Given the description of an element on the screen output the (x, y) to click on. 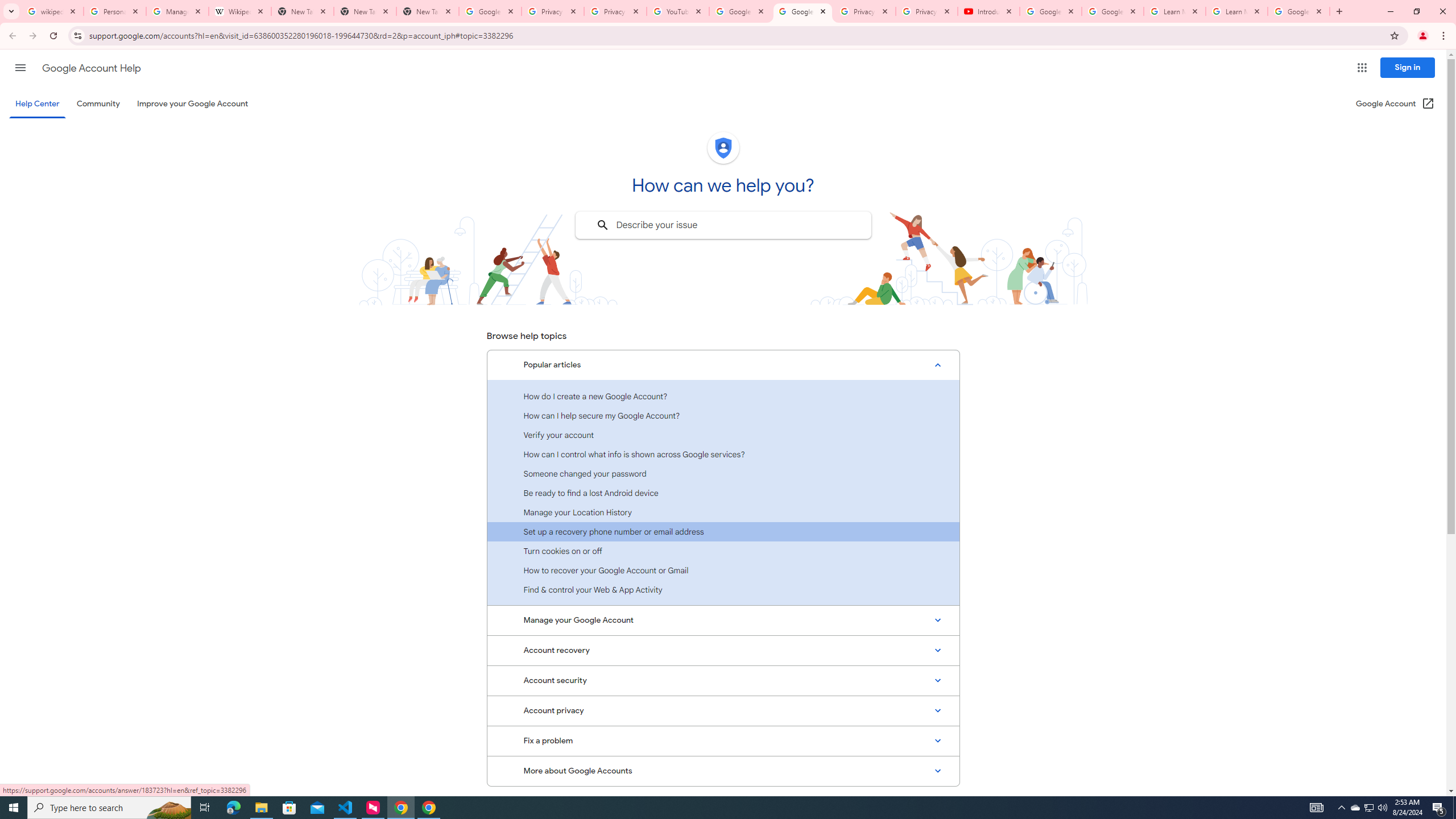
Introduction | Google Privacy Policy - YouTube (988, 11)
Be ready to find a lost Android device (722, 492)
Google Account Help (802, 11)
Set up a recovery phone number or email address (722, 531)
Account privacy (722, 710)
Describe your issue to find information that might help you. (722, 225)
